Given the description of an element on the screen output the (x, y) to click on. 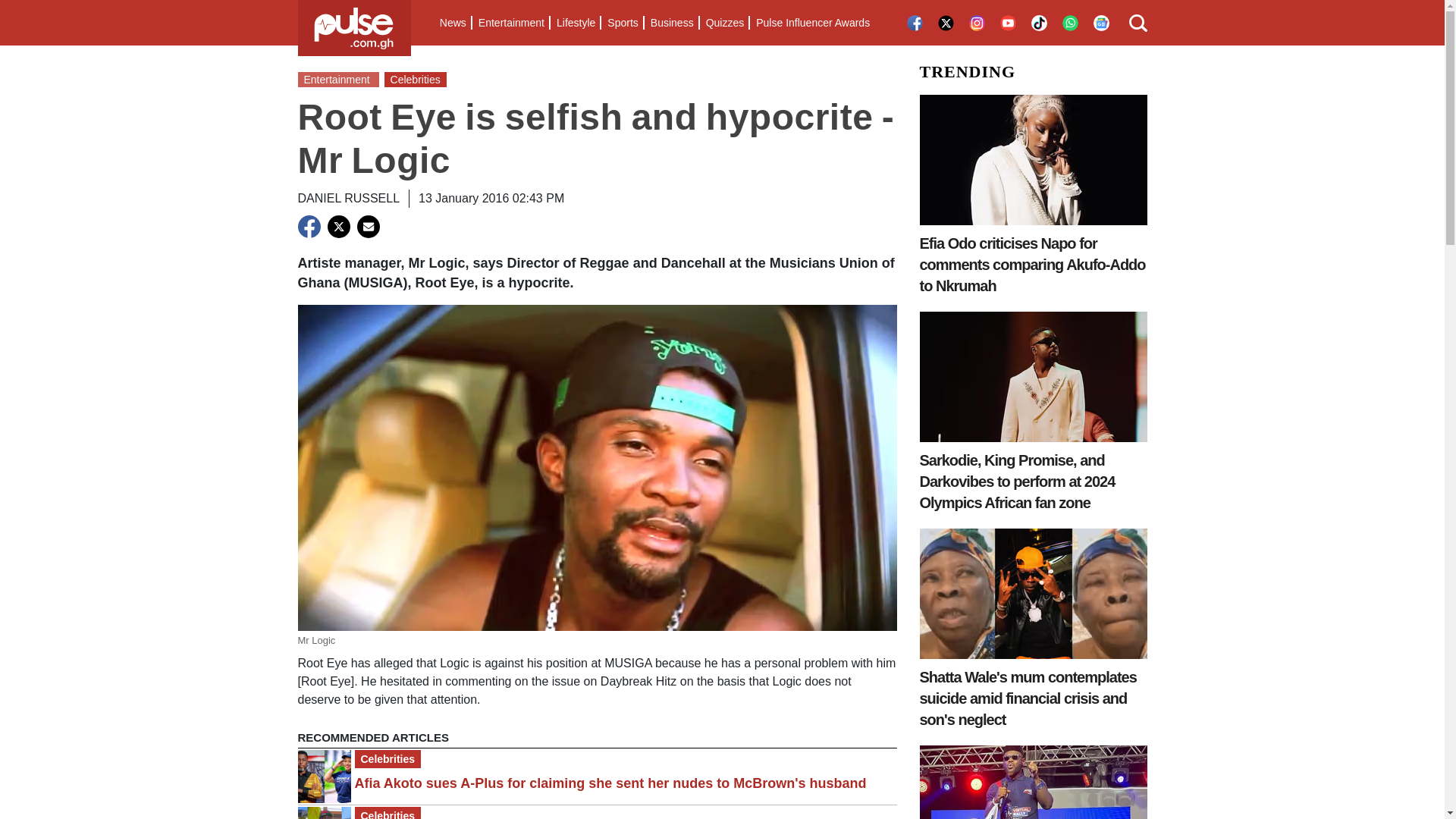
Sports (622, 22)
Lifestyle (575, 22)
Business (672, 22)
Entertainment (510, 22)
